Given the description of an element on the screen output the (x, y) to click on. 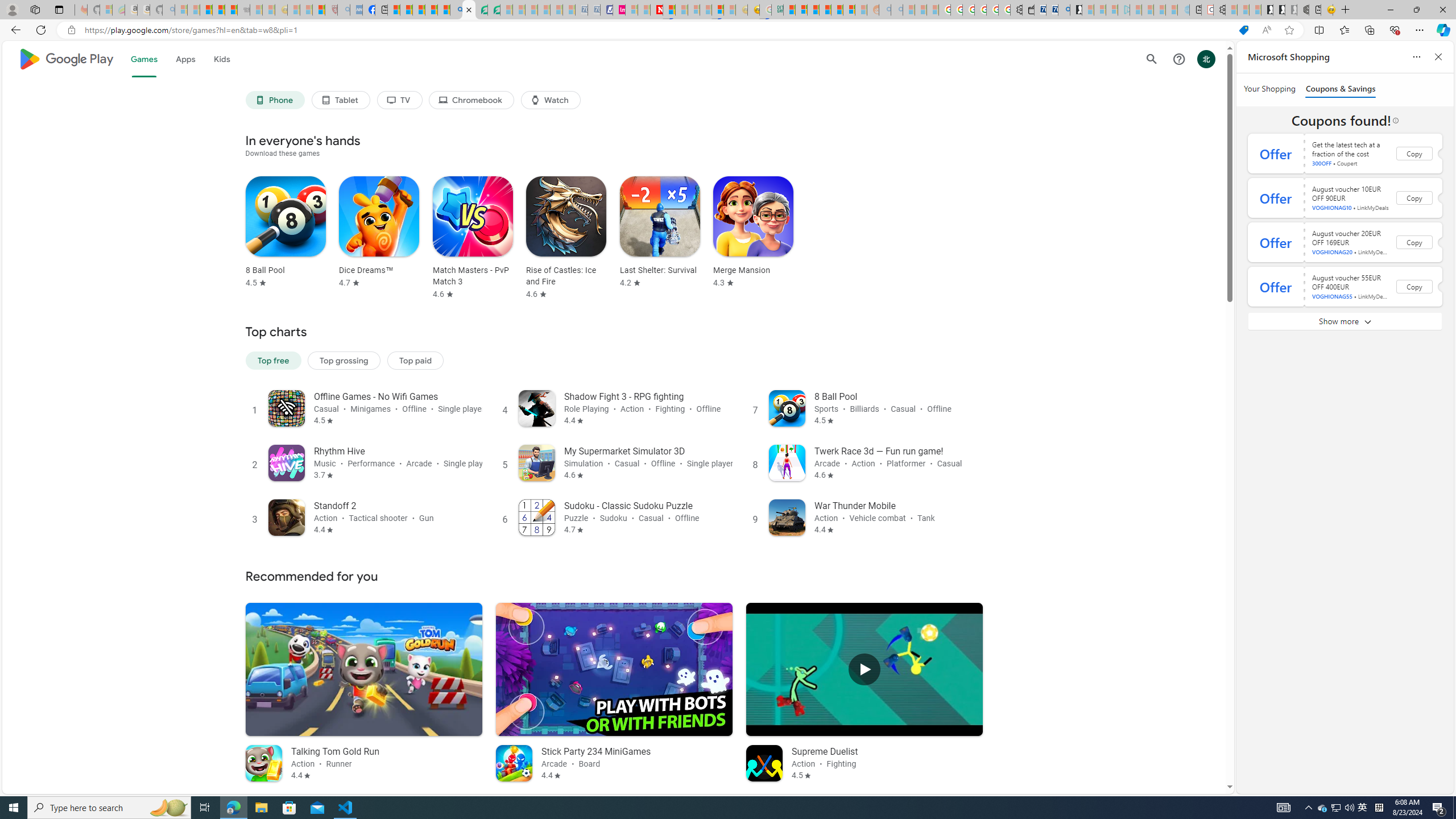
Cheap Car Rentals - Save70.com (1051, 9)
Microsoft-Report a Concern to Bing - Sleeping (105, 9)
Phone (274, 99)
Home | Sky Blue Bikes - Sky Blue Bikes - Sleeping (1182, 9)
Games (142, 58)
